Given the description of an element on the screen output the (x, y) to click on. 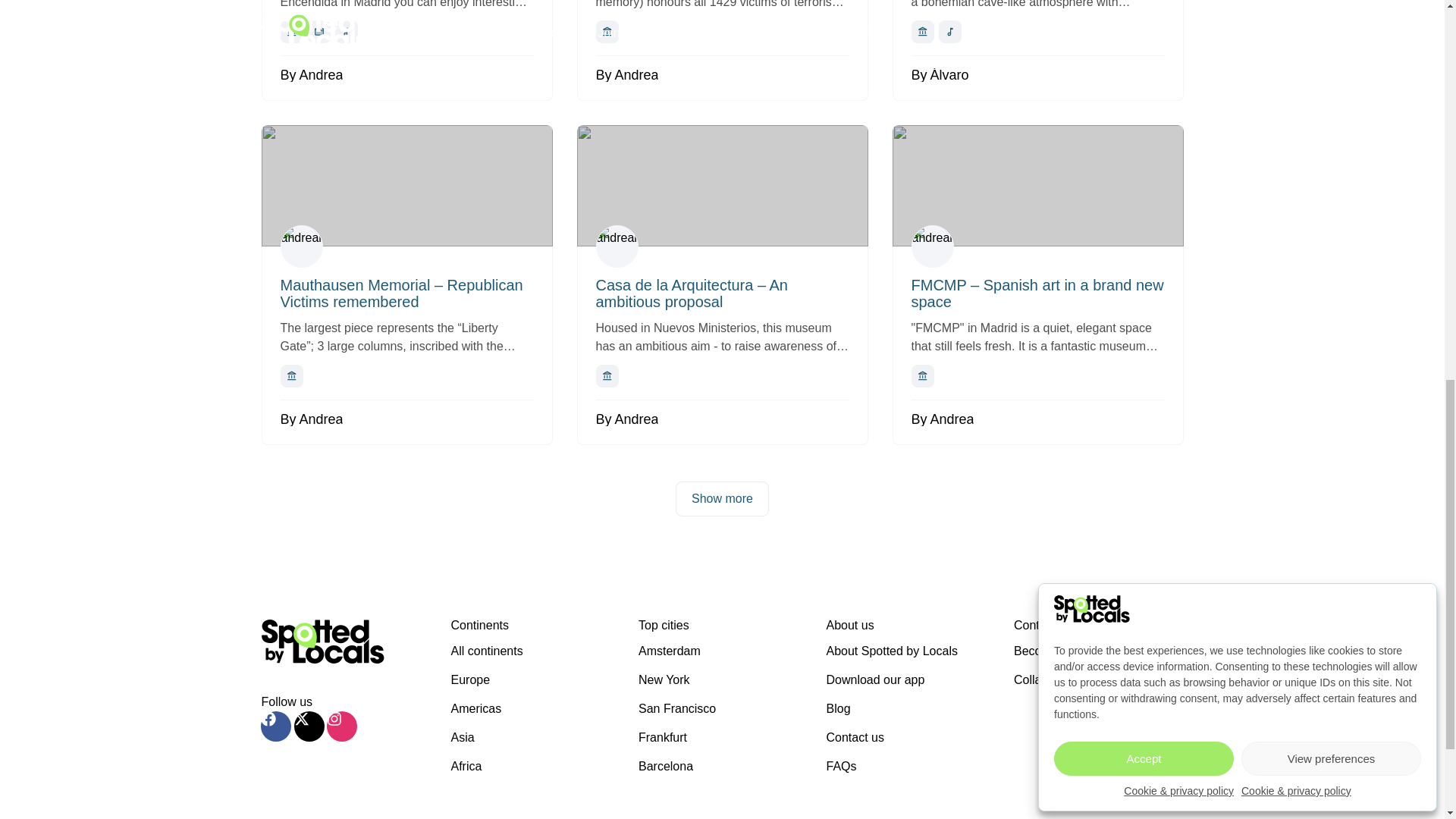
andrearoberts (617, 246)
andrearoberts (302, 246)
andrearoberts (932, 246)
